Given the description of an element on the screen output the (x, y) to click on. 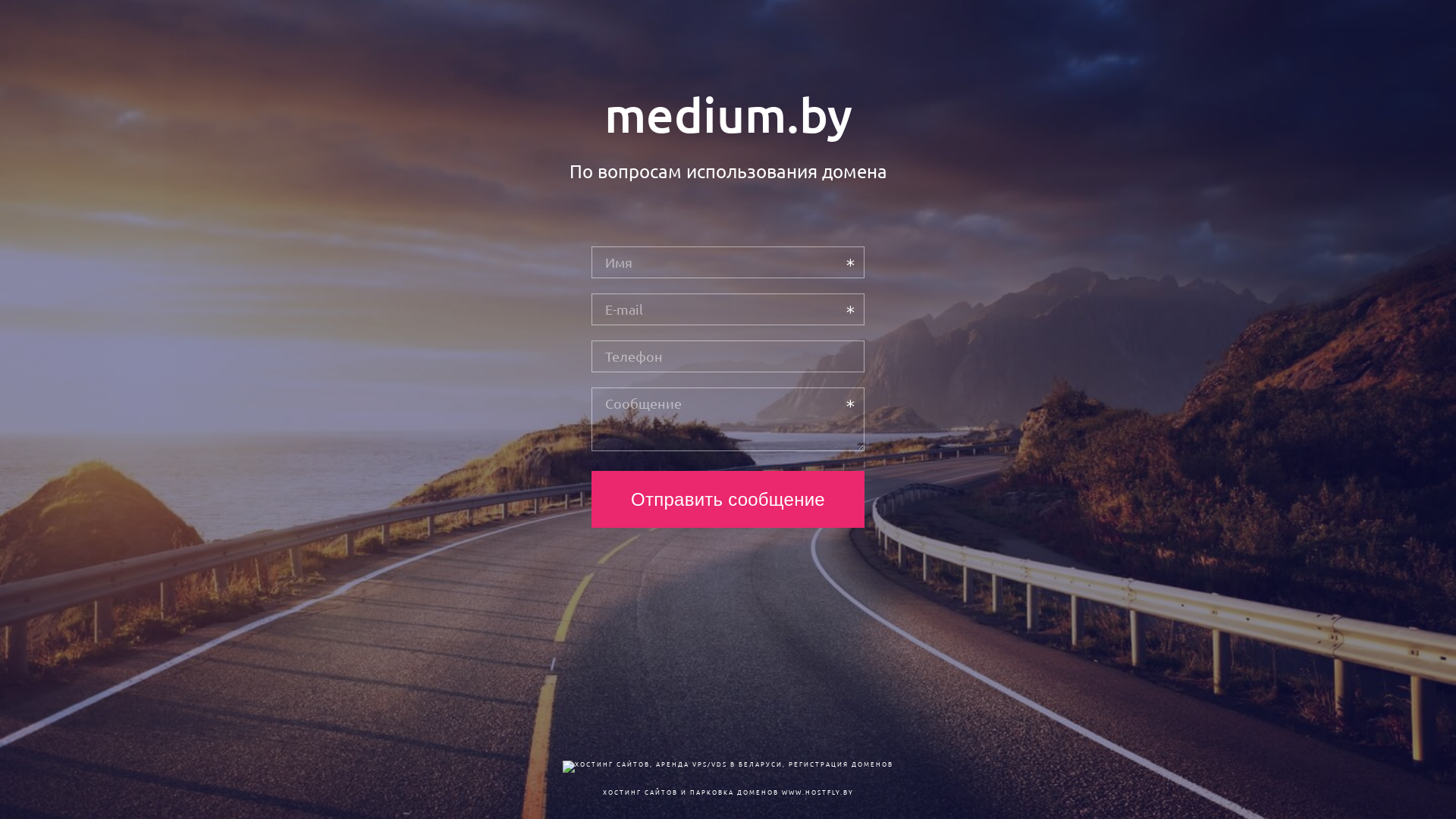
WWW.HOSTFLY.BY Element type: text (817, 791)
